Given the description of an element on the screen output the (x, y) to click on. 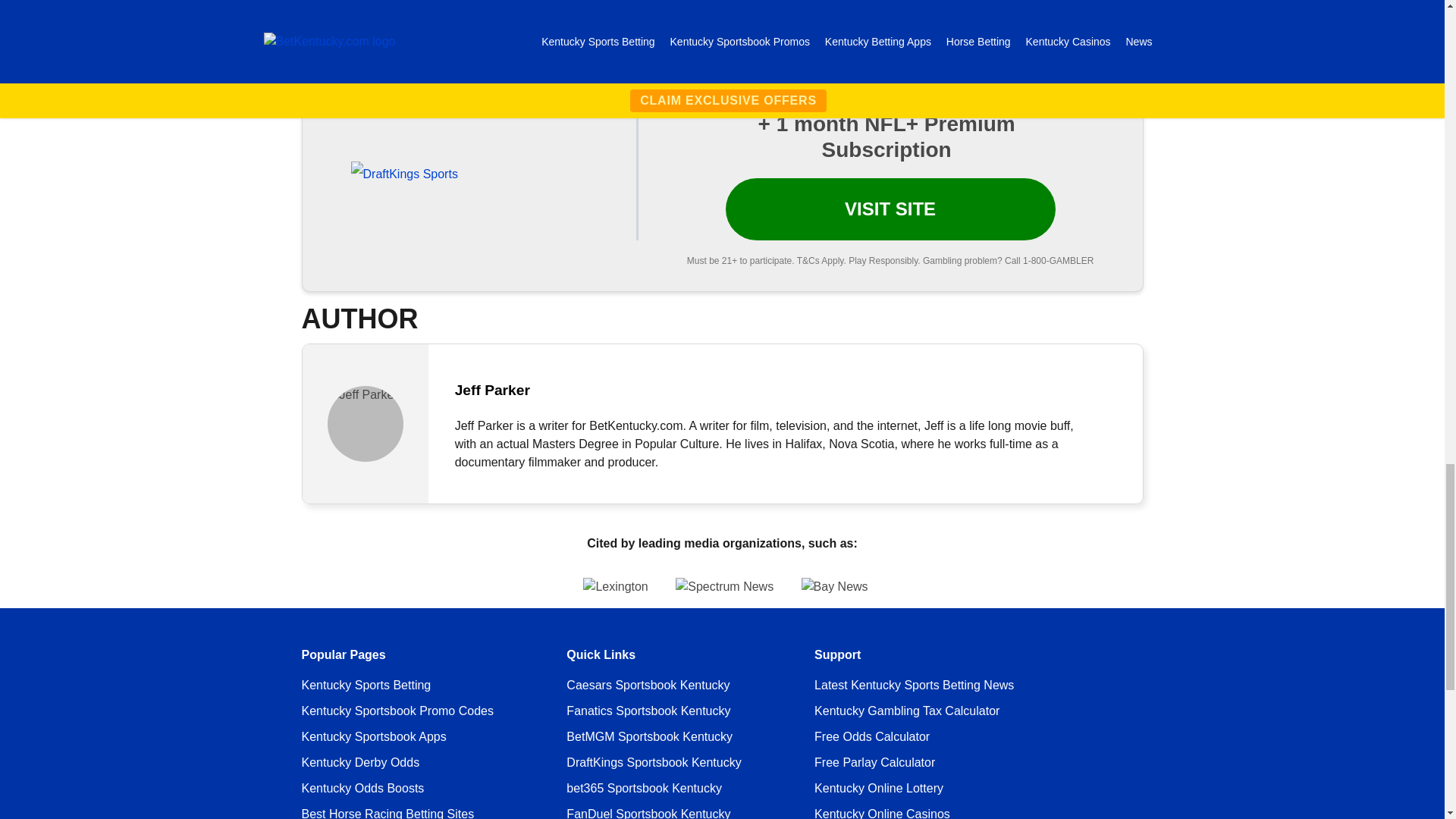
Spectrum News (724, 587)
Bay News (978, 587)
Lexington (472, 587)
DraftKings Sports (403, 174)
Jeff Parker (365, 423)
